Given the description of an element on the screen output the (x, y) to click on. 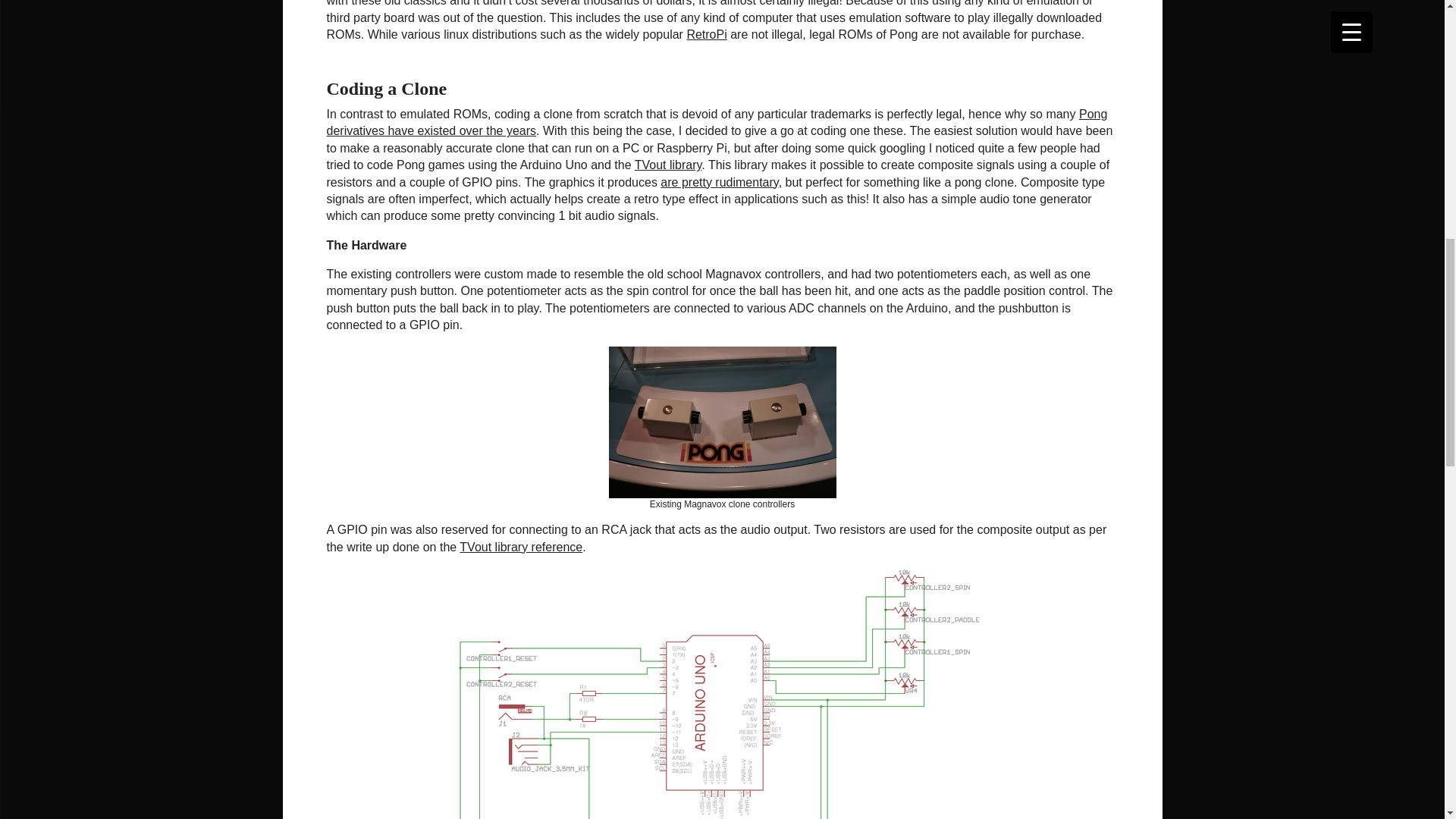
Pong derivatives have existed over the years (716, 122)
TVout library reference (521, 546)
are pretty rudimentary (719, 182)
TVout library (667, 164)
RetroPi (705, 33)
